Given the description of an element on the screen output the (x, y) to click on. 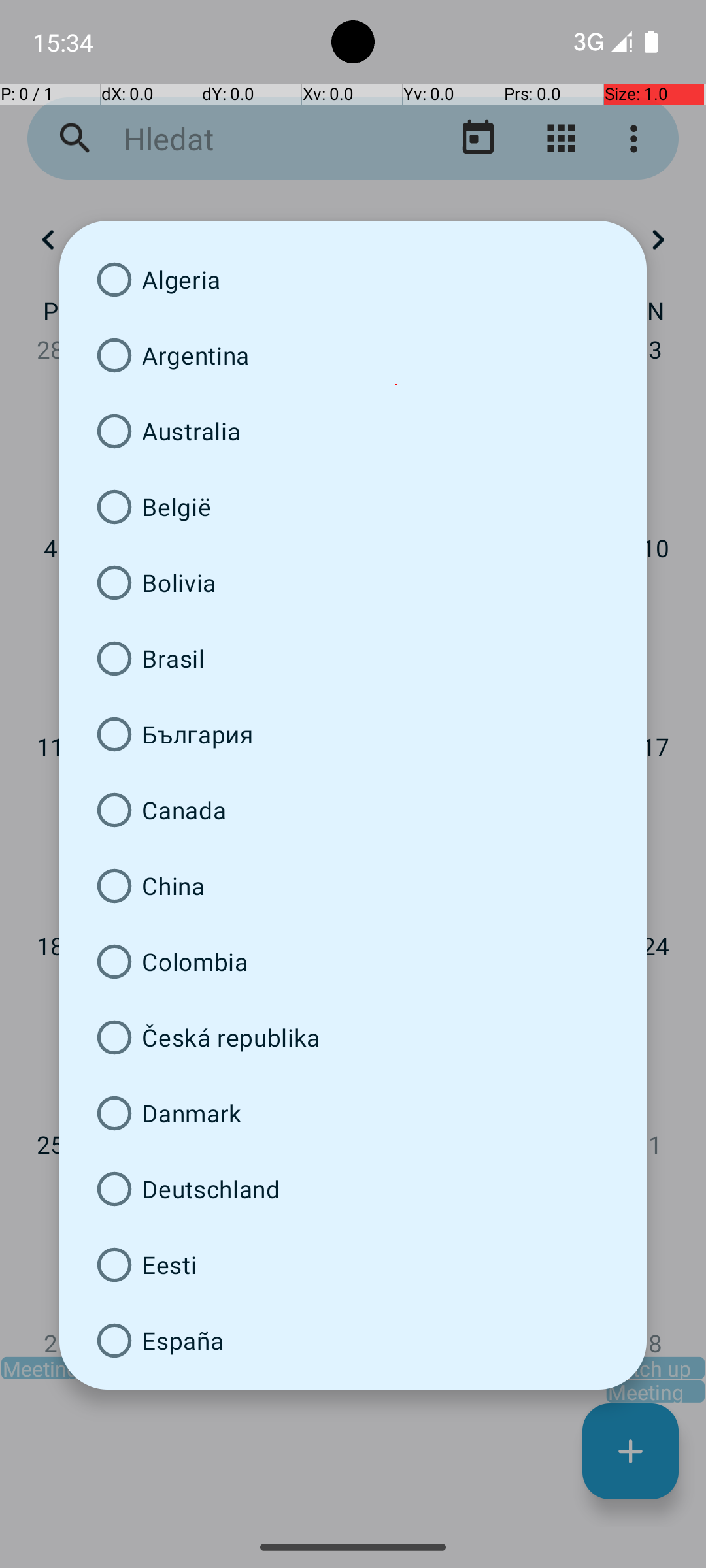
Algeria Element type: android.widget.RadioButton (352, 279)
Argentina Element type: android.widget.RadioButton (352, 355)
Australia Element type: android.widget.RadioButton (352, 431)
België Element type: android.widget.RadioButton (352, 506)
Bolivia Element type: android.widget.RadioButton (352, 582)
Brasil Element type: android.widget.RadioButton (352, 658)
България Element type: android.widget.RadioButton (352, 734)
Canada Element type: android.widget.RadioButton (352, 810)
China Element type: android.widget.RadioButton (352, 885)
Colombia Element type: android.widget.RadioButton (352, 961)
Česká republika Element type: android.widget.RadioButton (352, 1037)
Danmark Element type: android.widget.RadioButton (352, 1113)
Deutschland Element type: android.widget.RadioButton (352, 1188)
Eesti Element type: android.widget.RadioButton (352, 1264)
España Element type: android.widget.RadioButton (352, 1340)
Éire Element type: android.widget.RadioButton (352, 1383)
